Given the description of an element on the screen output the (x, y) to click on. 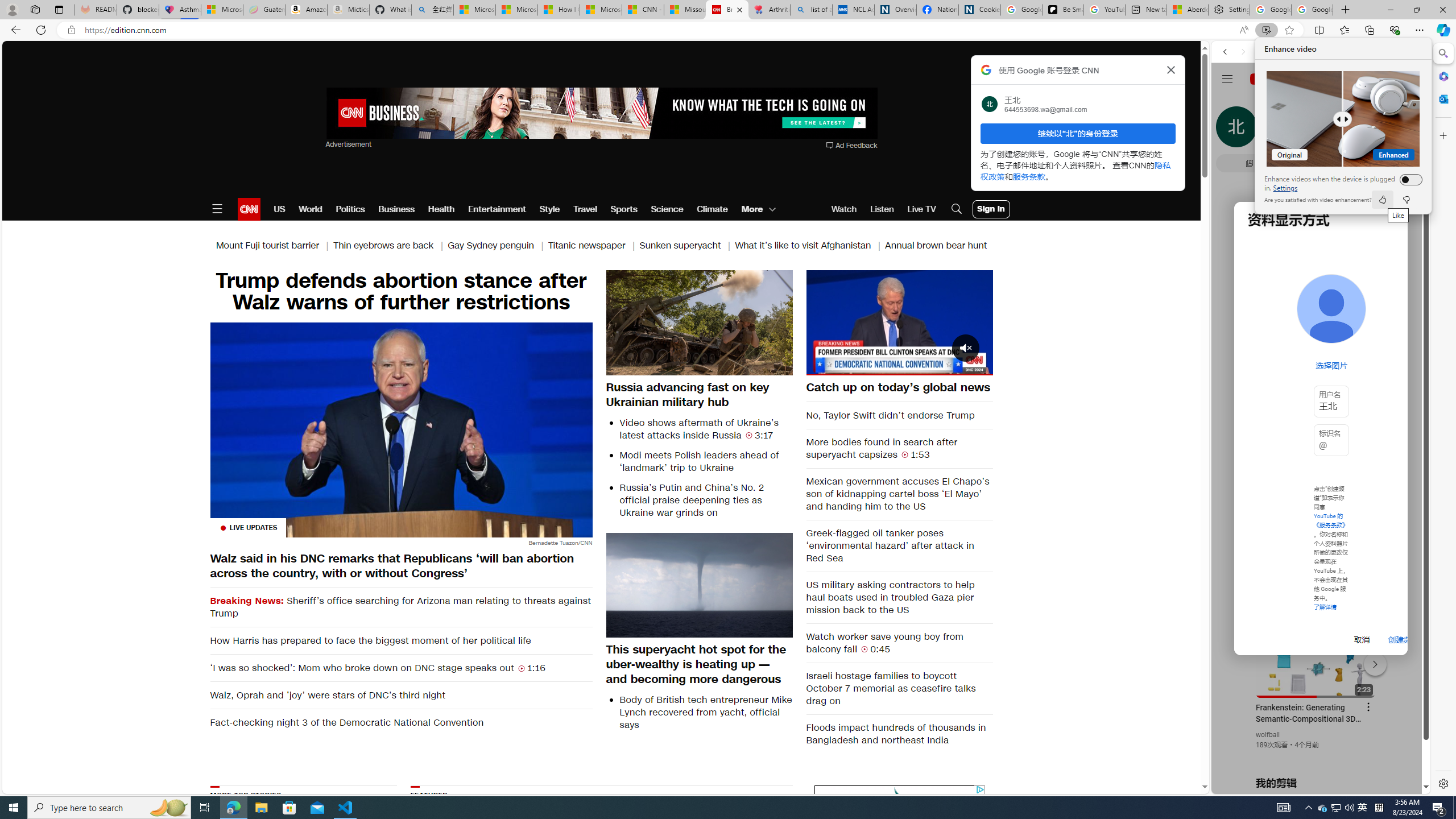
Task View (204, 807)
Show More Music (1390, 310)
Backward 10 seconds (864, 321)
Actions for this site (1371, 661)
Titanic newspaper | (593, 245)
Open Menu Icon (216, 208)
